Given the description of an element on the screen output the (x, y) to click on. 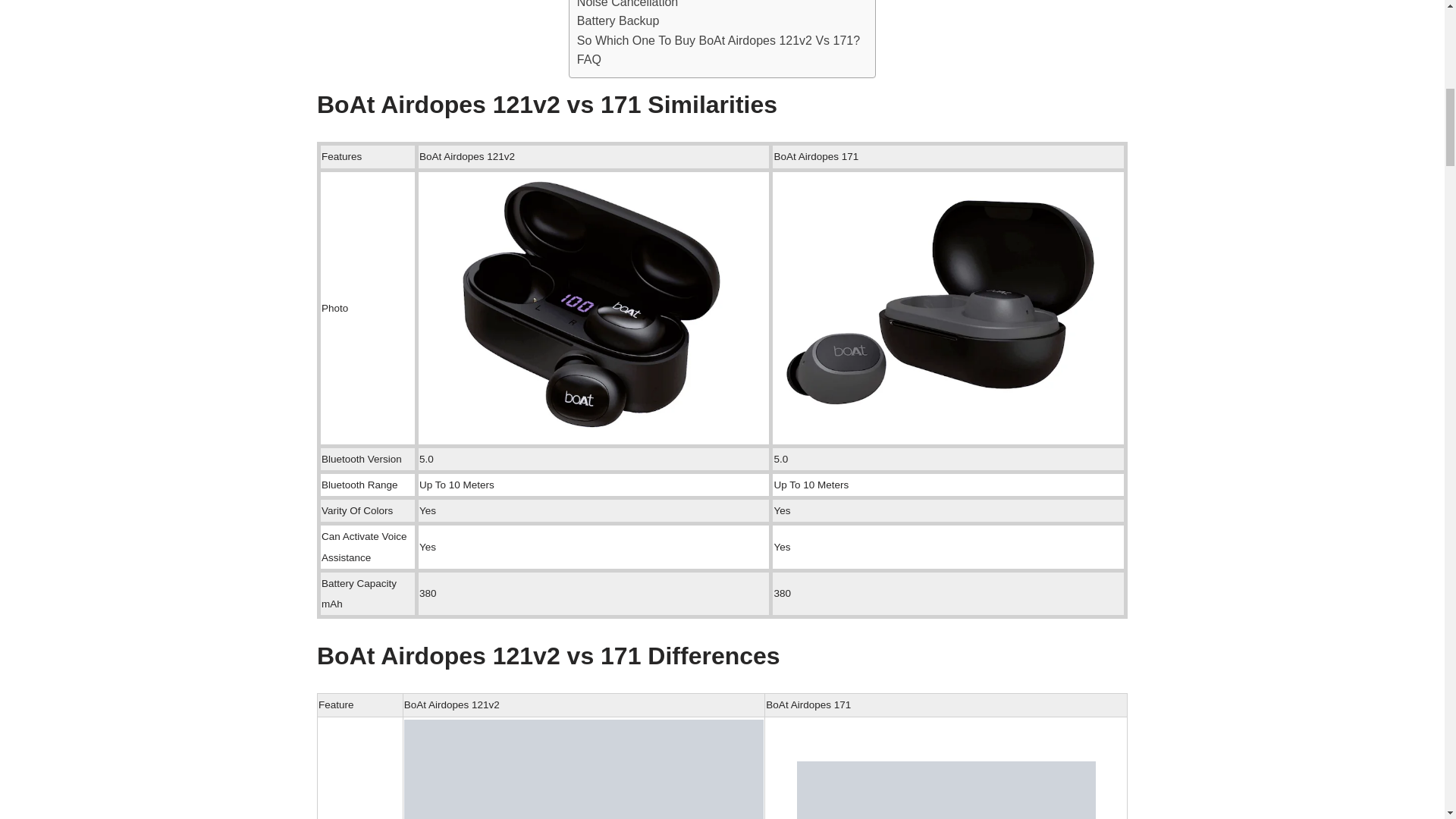
FAQ (588, 59)
So Which One To Buy BoAt Airdopes 121v2 Vs 171? (718, 40)
Noise Cancellation (627, 6)
Battery Backup (617, 21)
